Given the description of an element on the screen output the (x, y) to click on. 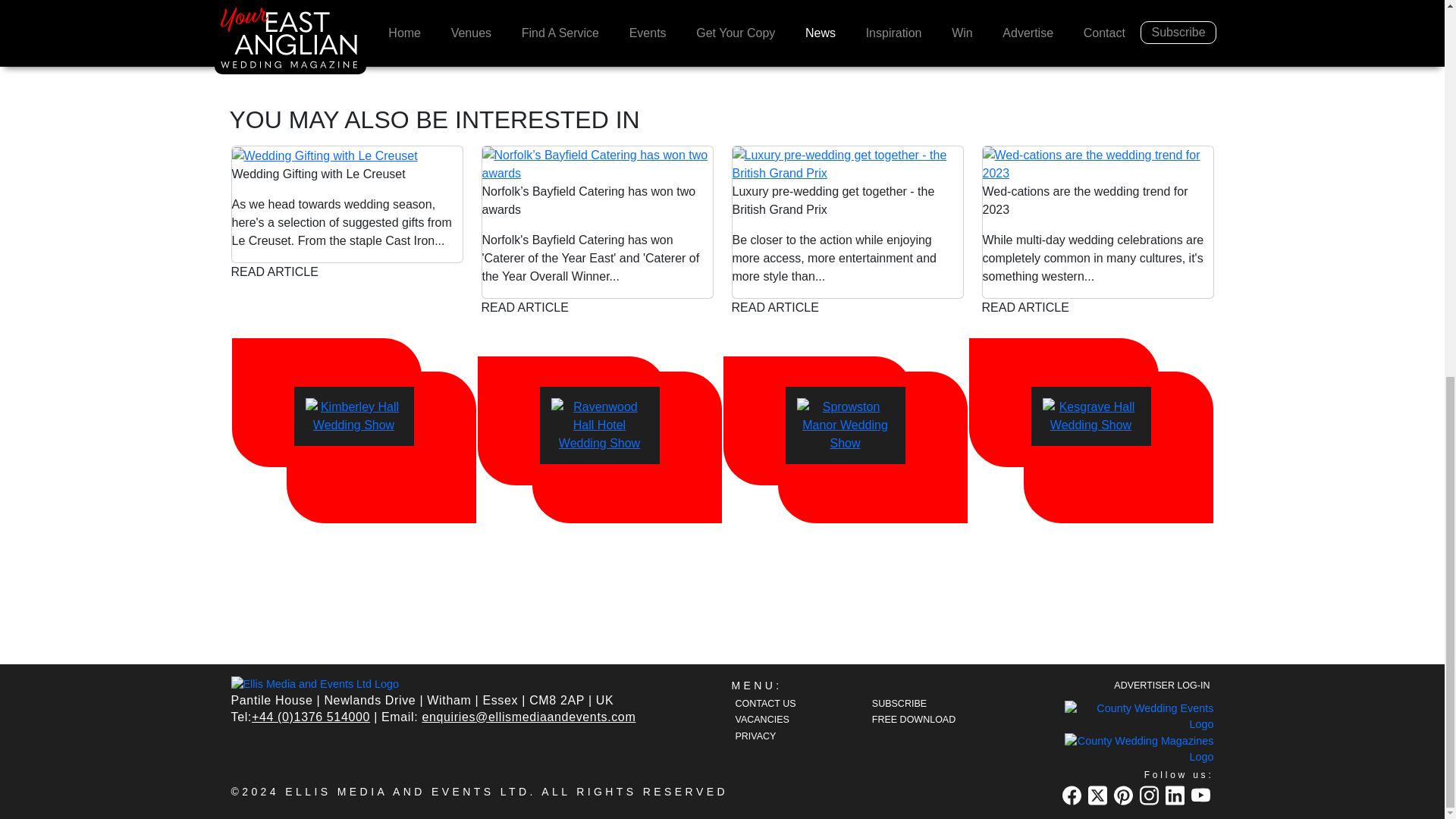
FREE DOWNLOAD (913, 719)
ADVERTISER LOG-IN (1159, 684)
Back to previous page (299, 36)
SUBSCRIBE (913, 703)
VACANCIES (776, 719)
CONTACT US (776, 703)
Back to previous page (299, 36)
Luxury pre-wedding get together - the British Grand Prix (847, 164)
Wedding Gifting with Le Creuset (347, 155)
PRIVACY (776, 735)
